Given the description of an element on the screen output the (x, y) to click on. 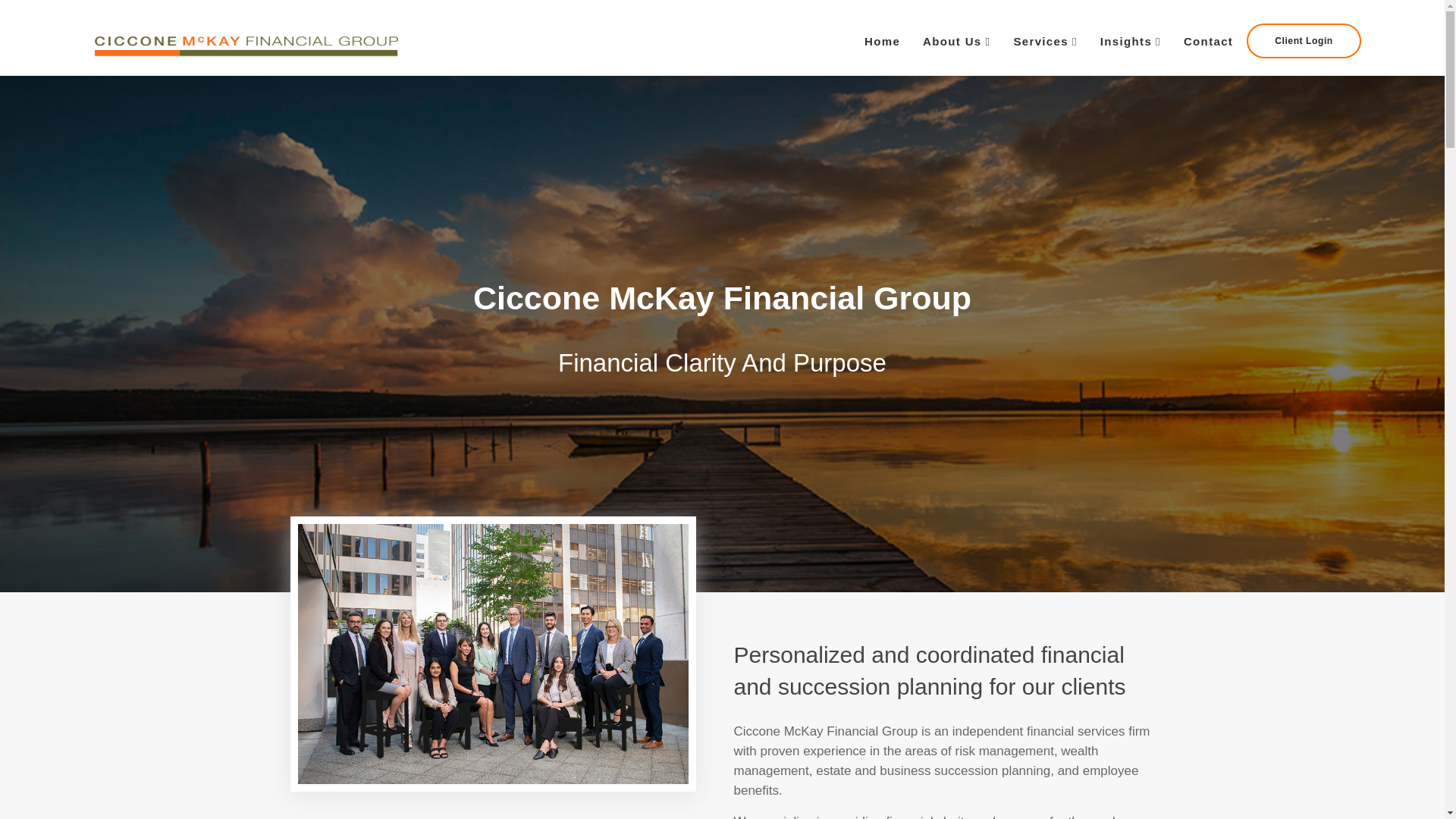
Insights (1130, 41)
Contact (1208, 41)
About Us (956, 41)
Services (1044, 41)
Client Login (1303, 40)
